Given the description of an element on the screen output the (x, y) to click on. 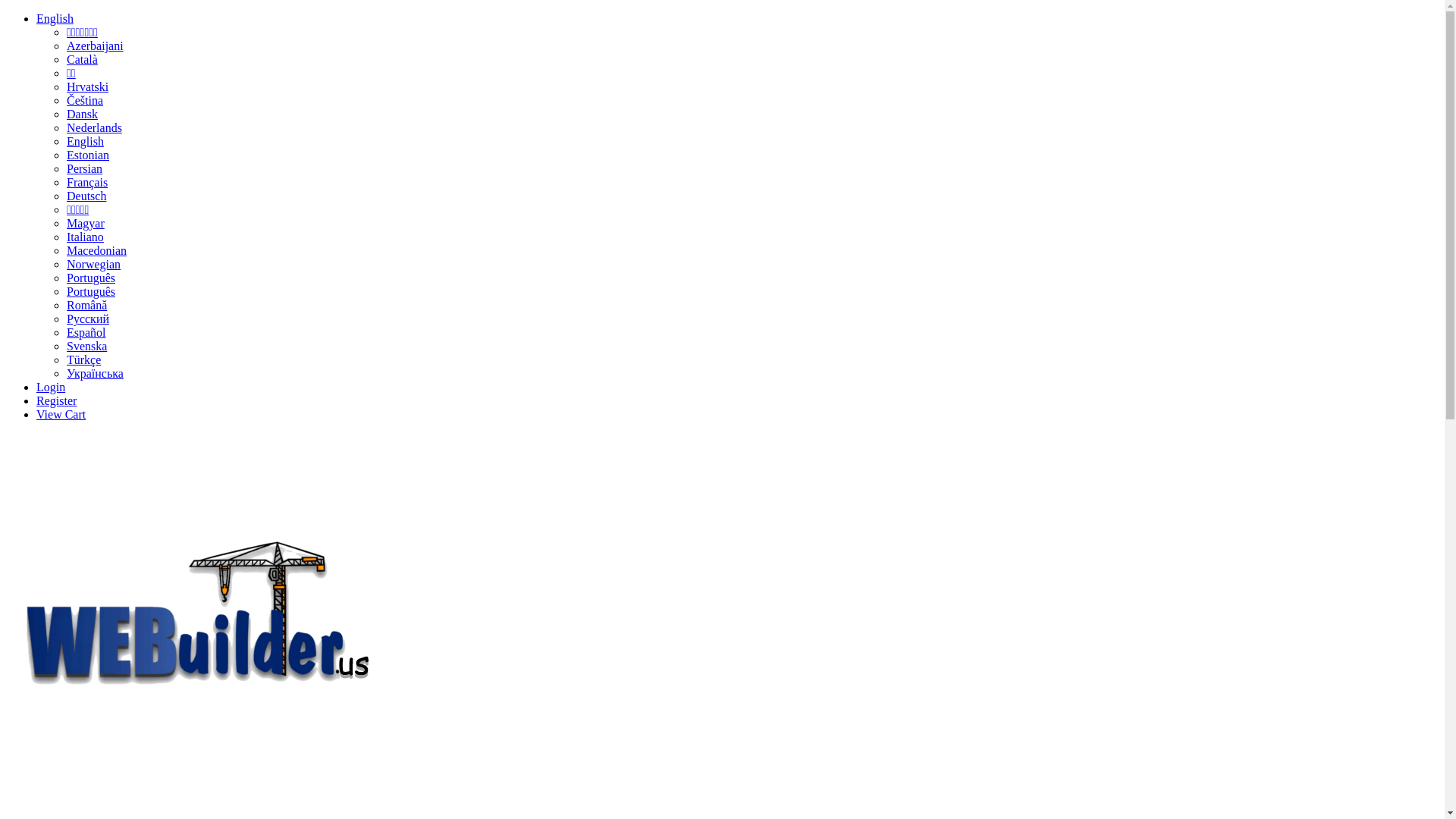
Register Element type: text (56, 400)
English Element type: text (84, 140)
Estonian Element type: text (87, 154)
Nederlands Element type: text (94, 127)
Azerbaijani Element type: text (94, 45)
Dansk Element type: text (81, 113)
Hrvatski Element type: text (87, 86)
Deutsch Element type: text (86, 195)
Magyar Element type: text (85, 222)
Svenska Element type: text (86, 345)
Norwegian Element type: text (93, 263)
Persian Element type: text (84, 168)
Macedonian Element type: text (96, 250)
English Element type: text (54, 18)
Italiano Element type: text (84, 236)
View Cart Element type: text (60, 413)
Login Element type: text (50, 386)
